Given the description of an element on the screen output the (x, y) to click on. 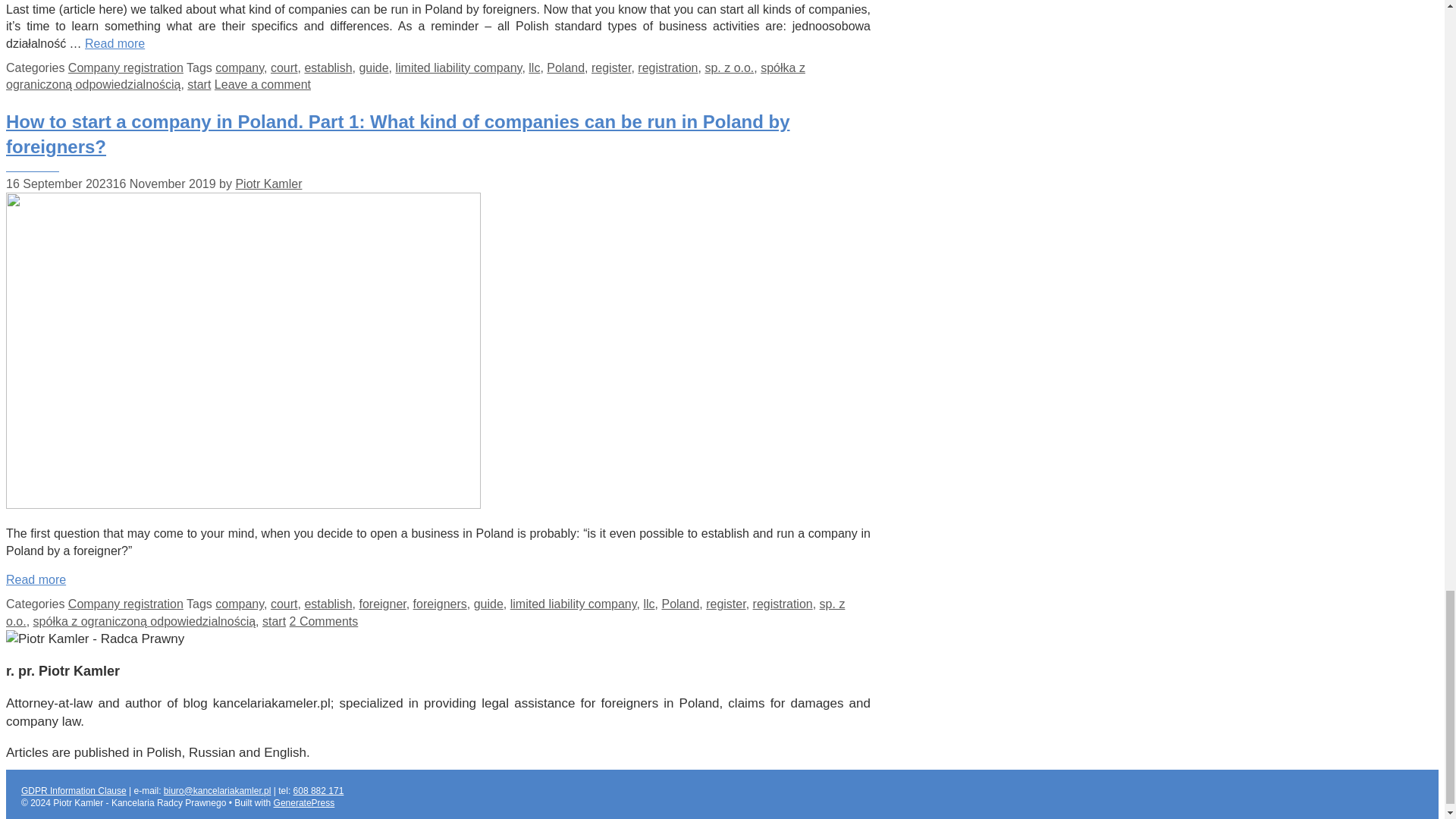
View all posts by Piotr Kamler (267, 183)
